Given the description of an element on the screen output the (x, y) to click on. 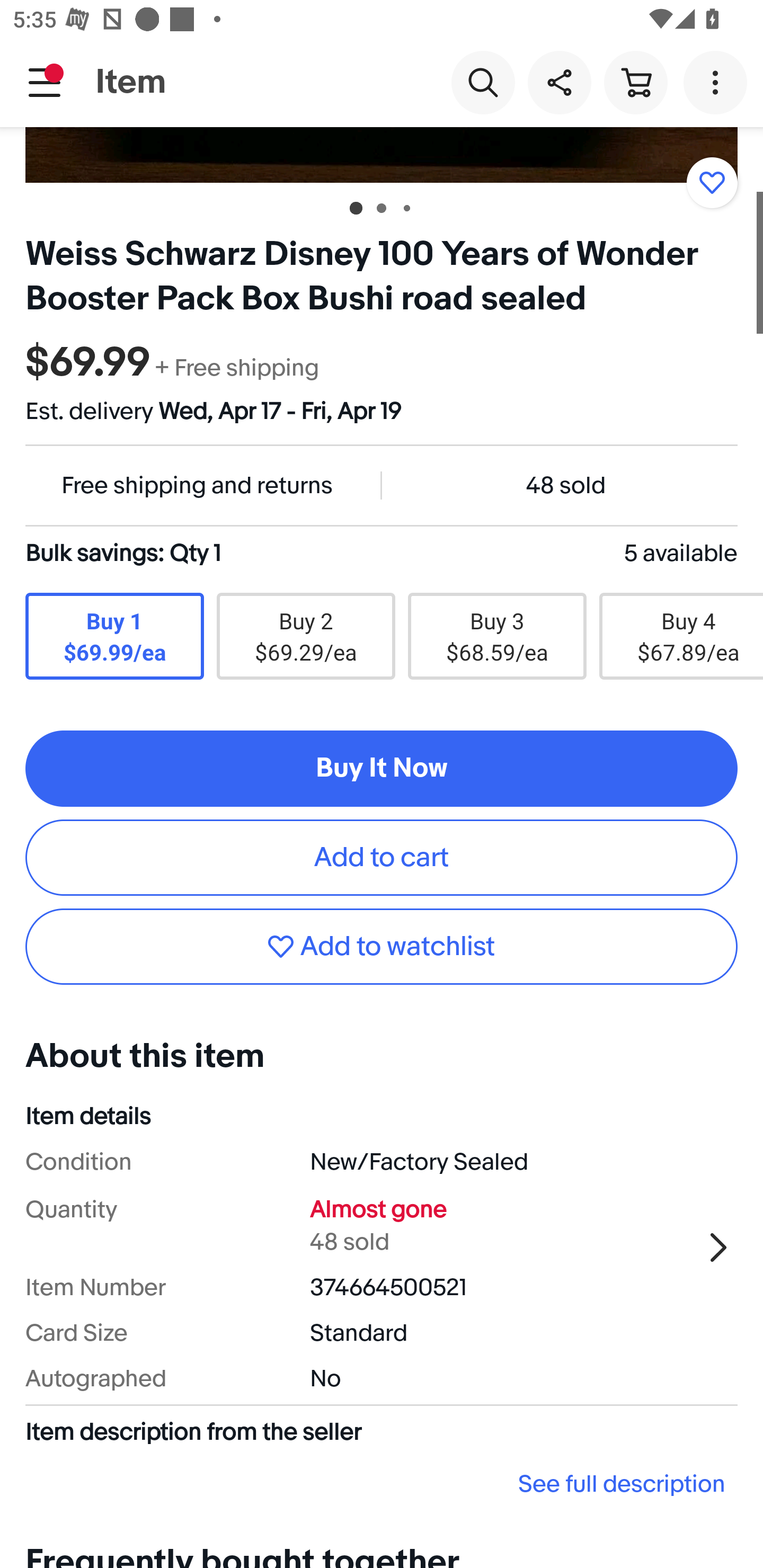
Main navigation, notification is pending, open (44, 82)
Search (482, 81)
Share this item (559, 81)
Cart button shopping cart (635, 81)
More options (718, 81)
Add to watchlist (711, 182)
Buy 1
$69.99/ea (114, 635)
Buy 2
$69.29/ea (305, 635)
Buy 3
$68.59/ea (497, 635)
Buy 4
$67.89/ea (680, 635)
Buy It Now (381, 768)
Add to cart (381, 857)
Add to watchlist (381, 945)
See full description (381, 1483)
